Given the description of an element on the screen output the (x, y) to click on. 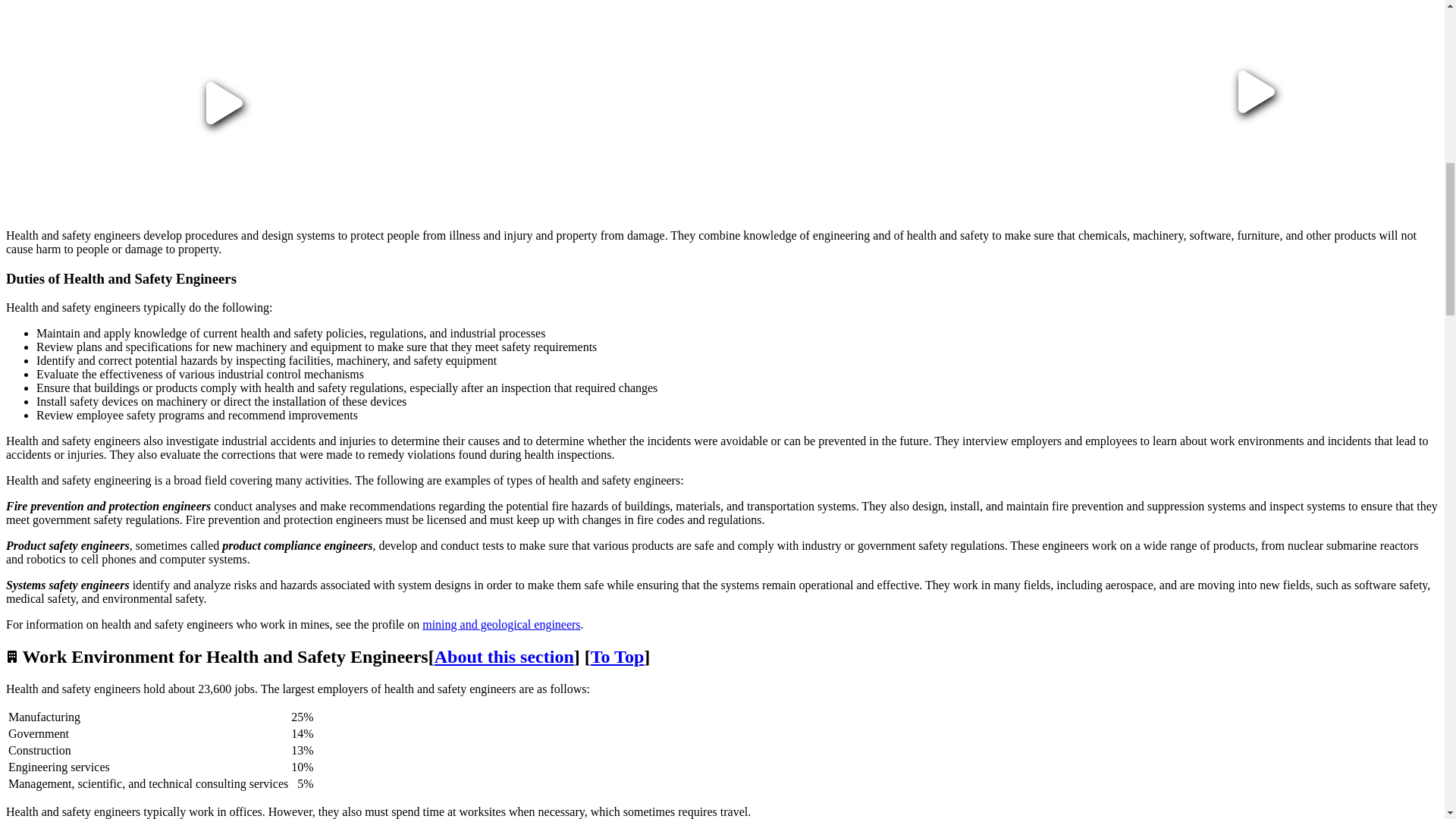
About this section (503, 656)
To Top (618, 656)
mining and geological engineers (500, 624)
